Given the description of an element on the screen output the (x, y) to click on. 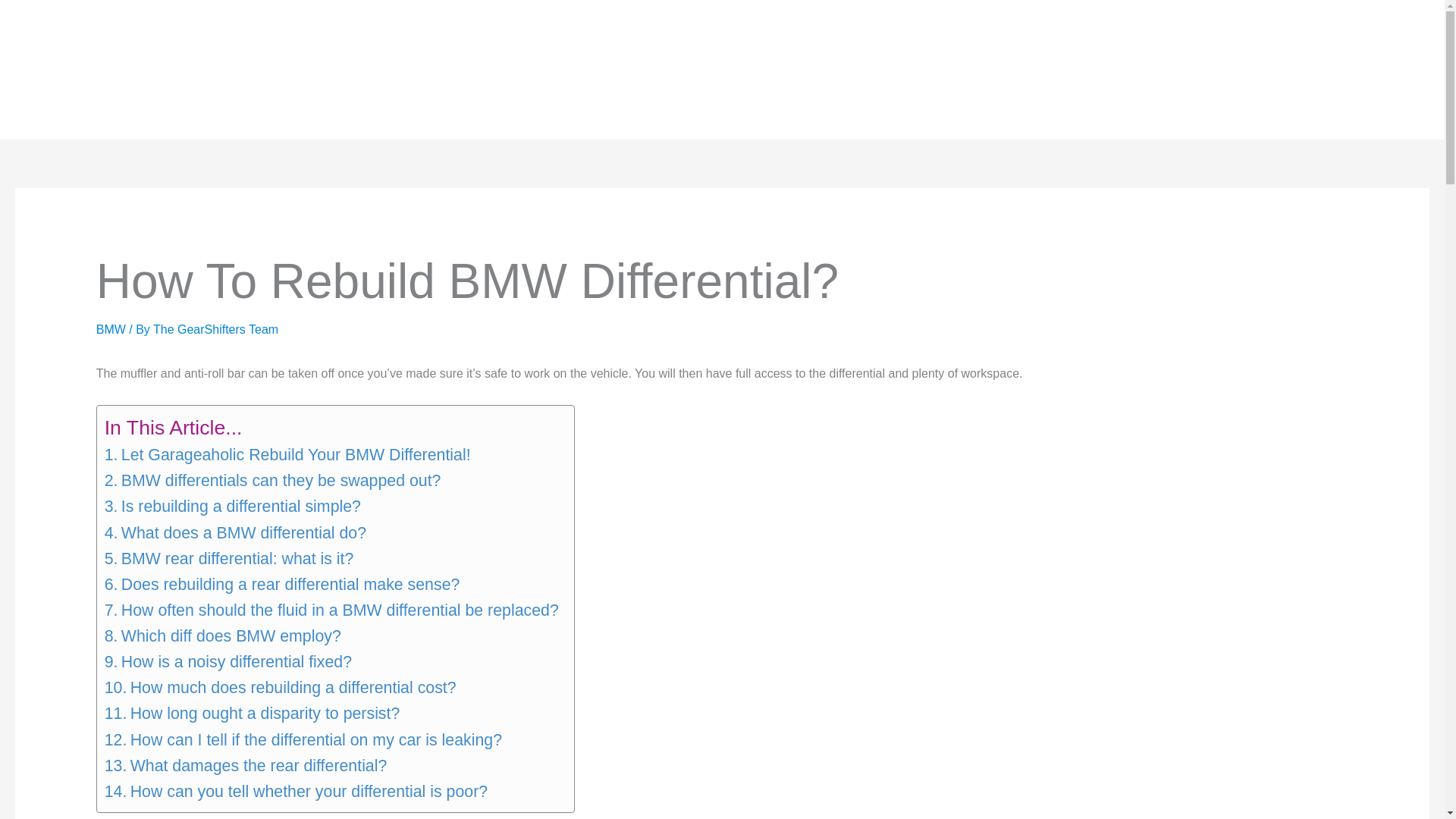
What does a BMW differential do? (235, 533)
Does rebuilding a rear differential make sense? (282, 584)
Which diff does BMW employ? (222, 636)
How is a noisy differential fixed? (228, 661)
How can you tell whether your differential is poor? (295, 791)
Let Garageaholic Rebuild Your BMW Differential! (287, 454)
BLOG (312, 69)
BMW differentials can they be swapped out? (272, 480)
How can you tell whether your differential is poor? (295, 791)
